Given the description of an element on the screen output the (x, y) to click on. 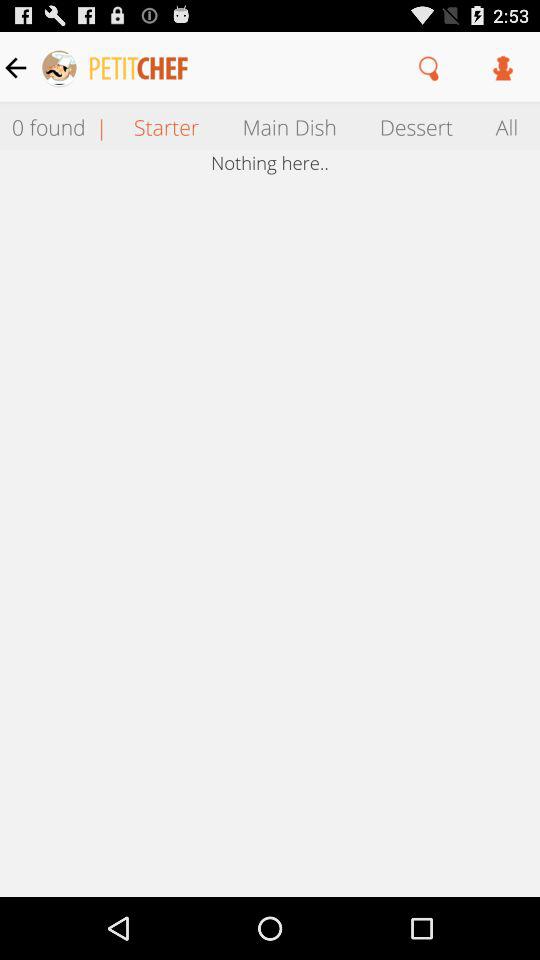
choose all item (507, 126)
